Given the description of an element on the screen output the (x, y) to click on. 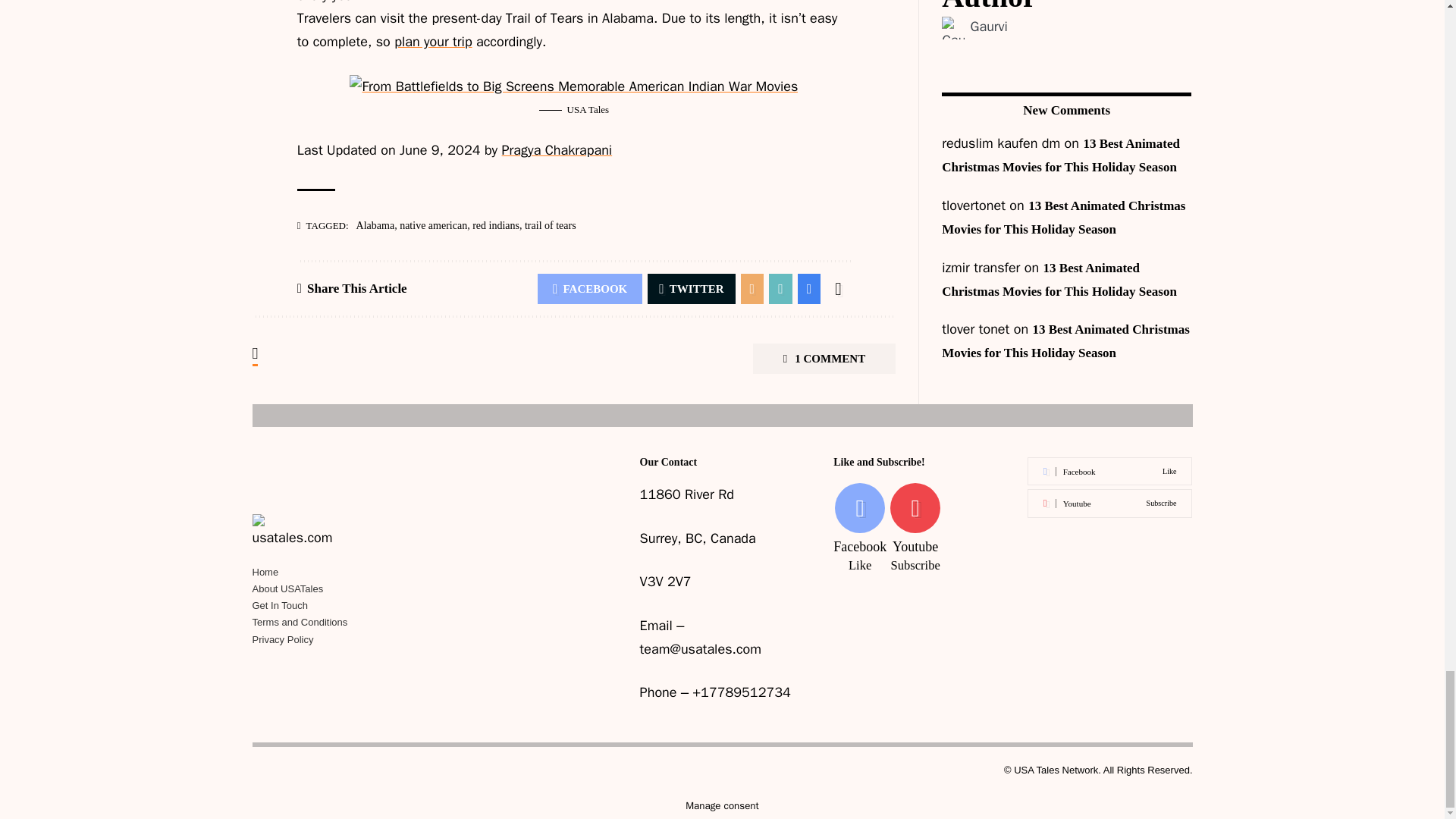
Unveiling Alabama's Trail of Tears: 5 Captivating Insights 5 (573, 86)
